Given the description of an element on the screen output the (x, y) to click on. 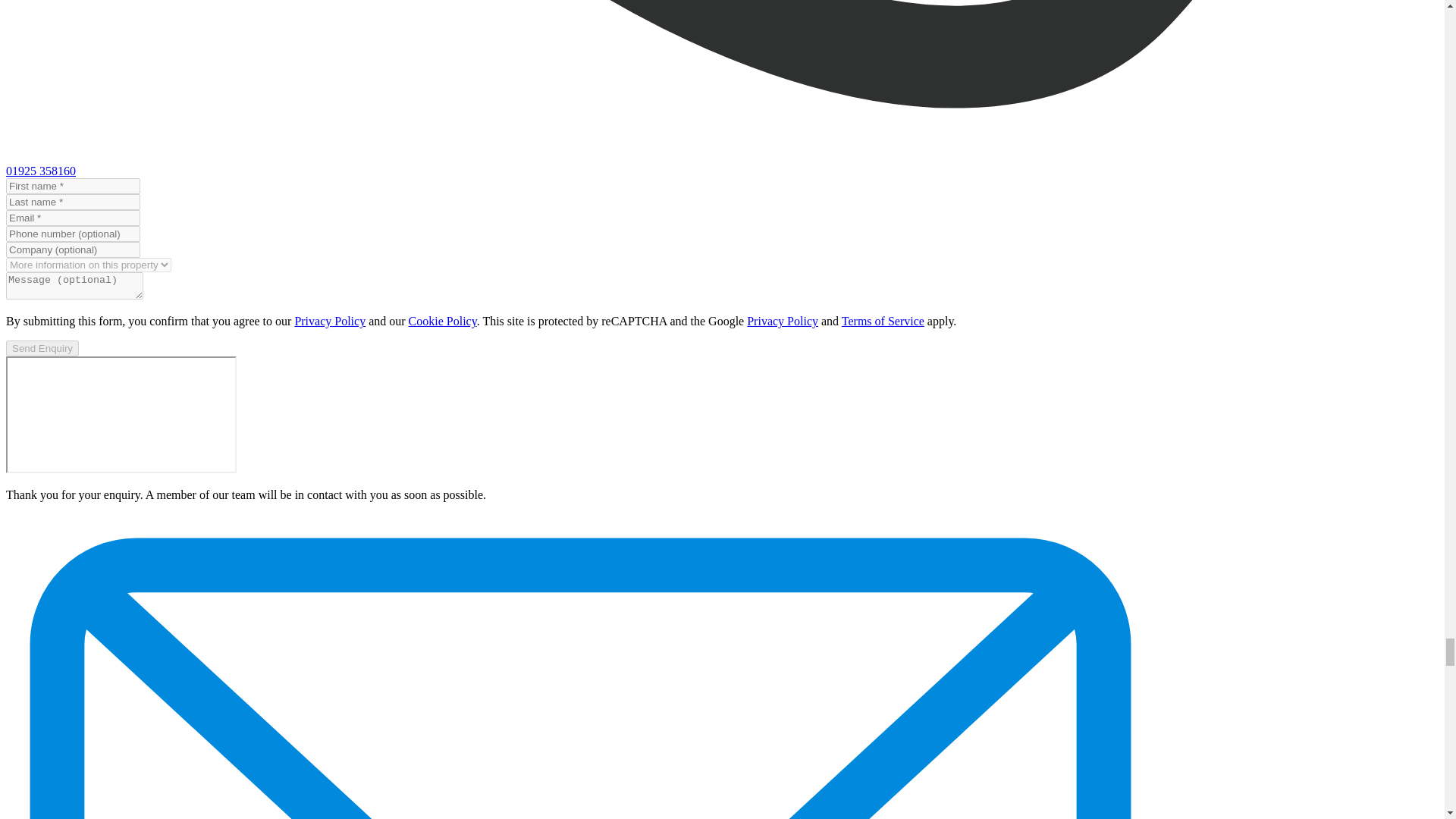
Terms of Service (882, 320)
Privacy Policy (782, 320)
Send Enquiry (41, 348)
Privacy Policy (329, 320)
Cookie Policy (443, 320)
Send Enquiry (41, 348)
